Given the description of an element on the screen output the (x, y) to click on. 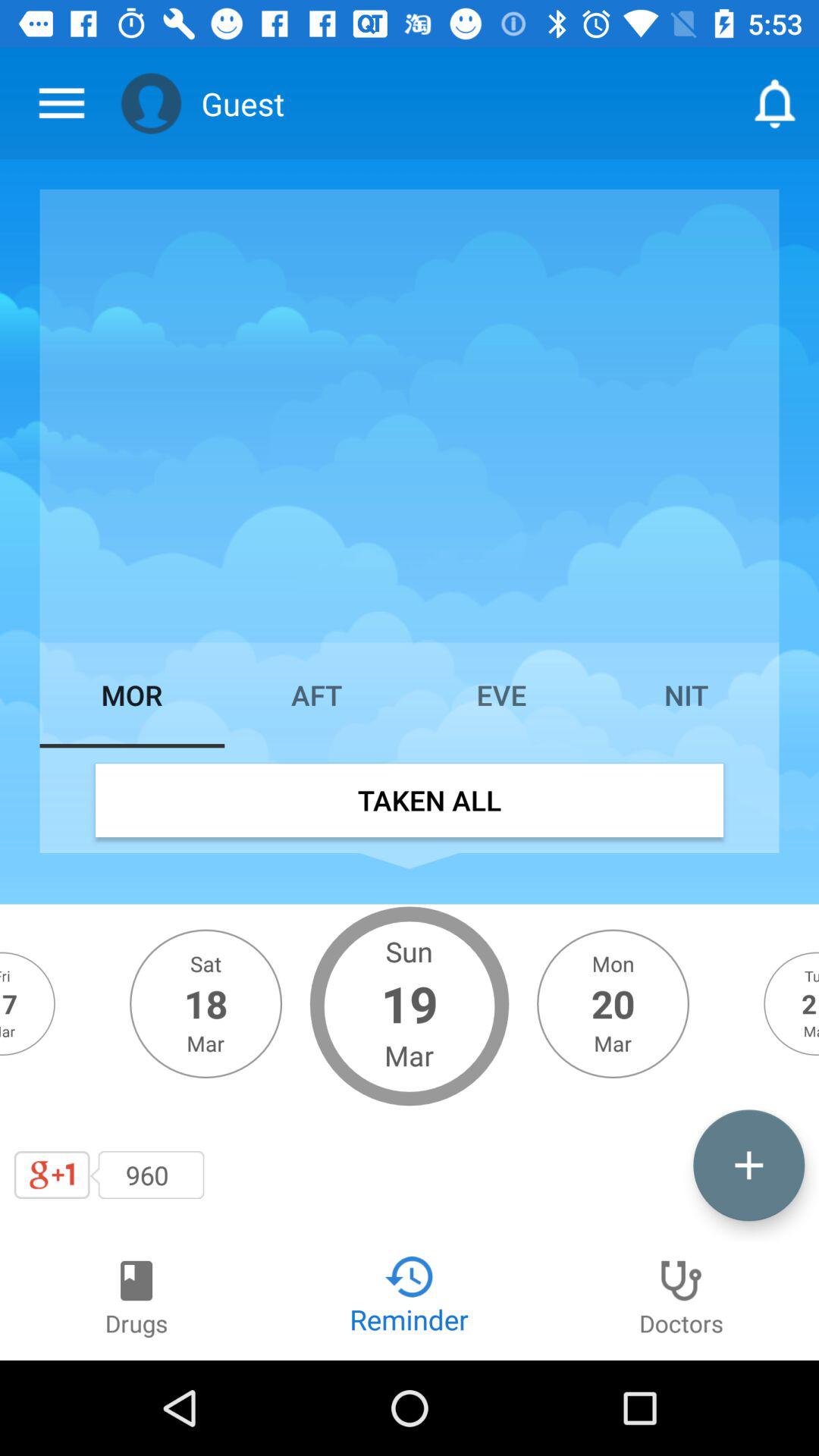
open the item next to the guest (151, 103)
